Given the description of an element on the screen output the (x, y) to click on. 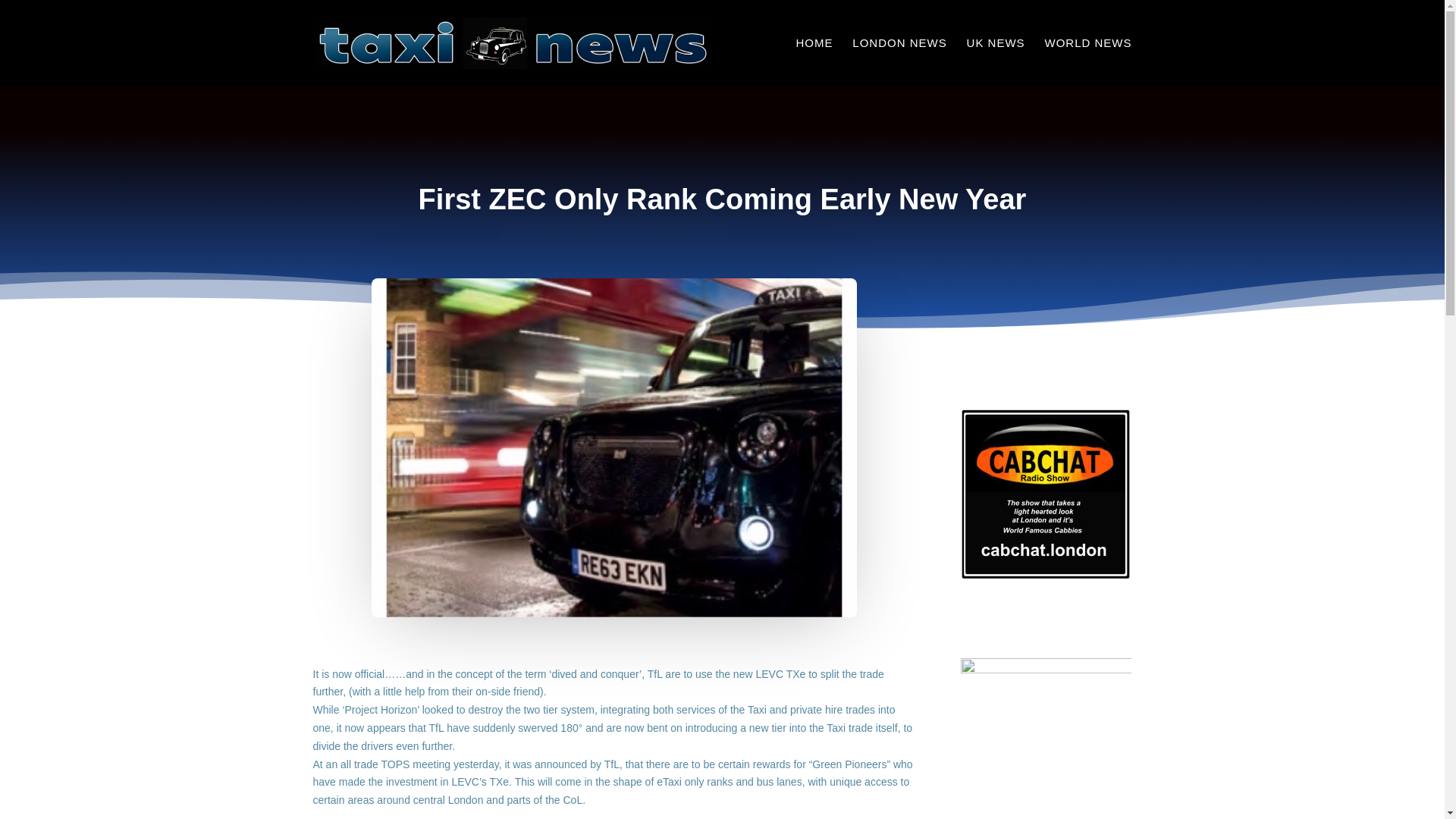
LONDON NEWS (898, 61)
WORLD NEWS (1088, 61)
UK NEWS (995, 61)
Cab Chat New Pic 2 (1045, 493)
